Given the description of an element on the screen output the (x, y) to click on. 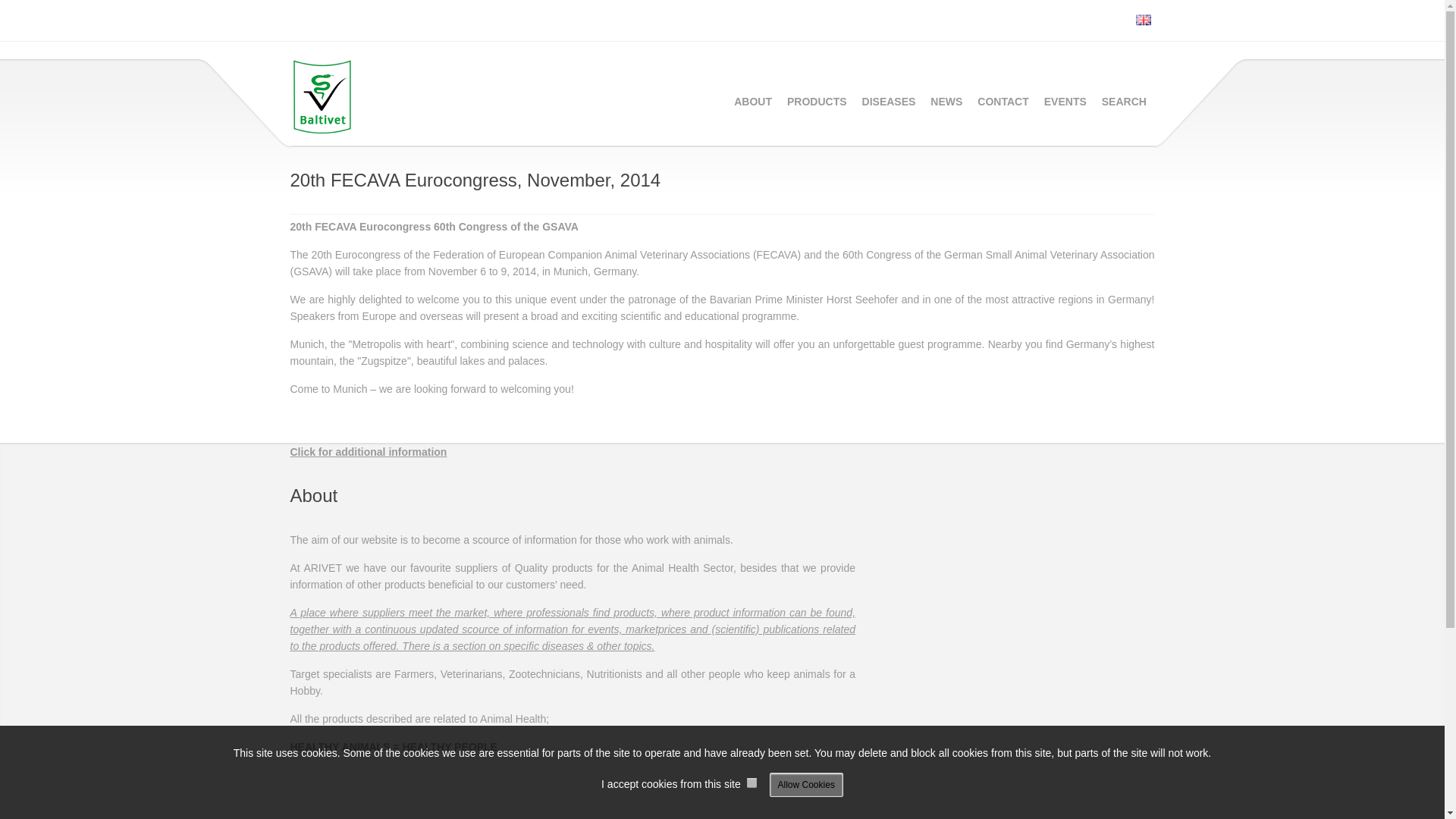
SEARCH (1124, 101)
PRODUCTS (817, 101)
1 (751, 782)
DISEASES (888, 101)
ABOUT (752, 101)
Allow Cookies (806, 784)
EVENTS (1064, 101)
CONTACT (1001, 101)
NEWS (946, 101)
